Given the description of an element on the screen output the (x, y) to click on. 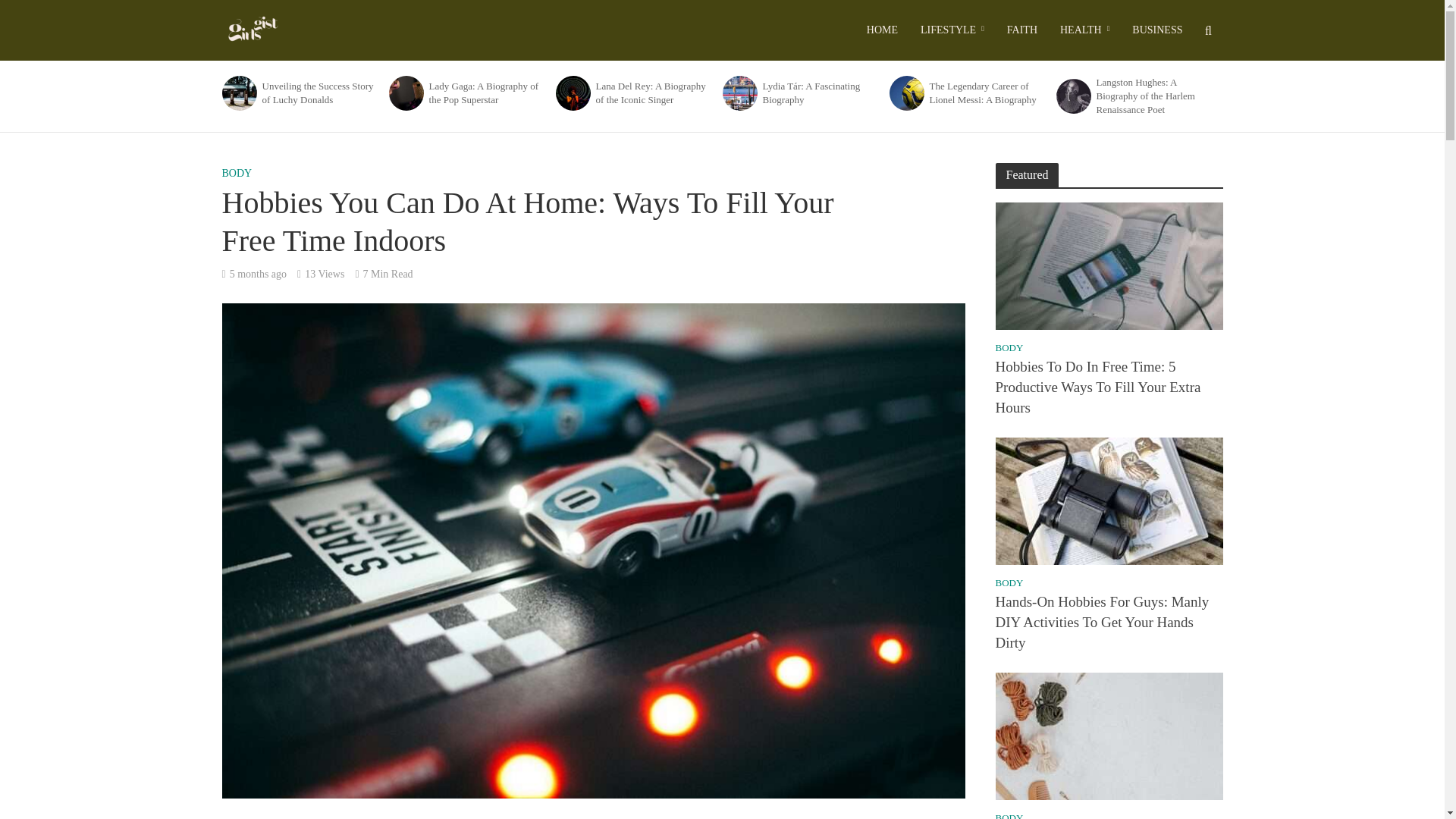
Unveiling the Success Story of Luchy Donalds (237, 93)
FAITH (1021, 30)
Langston Hughes: A Biography of the Harlem Renaissance Poet (1072, 95)
Langston Hughes: A Biography of the Harlem Renaissance Poet (1071, 95)
The Legendary Career of Lionel Messi: A Biography (904, 93)
LIFESTYLE (951, 30)
The Legendary Career of Lionel Messi: A Biography (905, 93)
HOME (882, 30)
Lana Del Rey: A Biography of the Iconic Singer (654, 93)
Unveiling the Success Story of Luchy Donalds (238, 93)
Lady Gaga: A Biography of the Pop Superstar (404, 93)
Unveiling the Success Story of Luchy Donalds (320, 93)
The Legendary Career of Lionel Messi: A Biography (988, 93)
Lana Del Rey: A Biography of the Iconic Singer (571, 93)
